Given the description of an element on the screen output the (x, y) to click on. 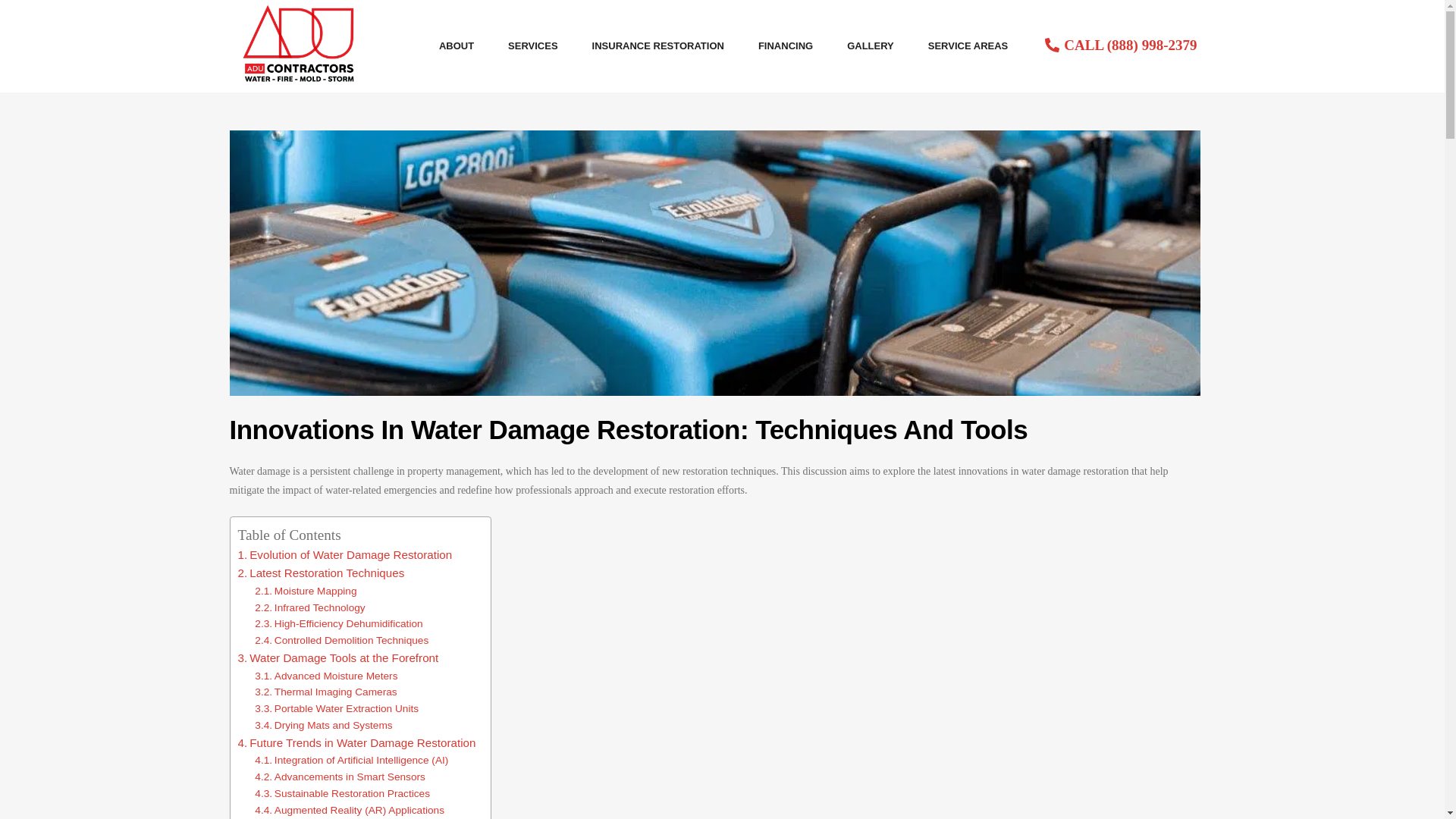
GALLERY (870, 46)
Latest Restoration Techniques (321, 573)
High-Efficiency Dehumidification (338, 623)
Drying Mats and Systems (322, 725)
Portable Water Extraction Units (336, 709)
Advanced Moisture Meters (325, 676)
INSURANCE RESTORATION (657, 46)
Controlled Demolition Techniques (341, 640)
Advanced Moisture Meters (325, 676)
Water Damage Tools at the Forefront (338, 658)
Evolution of Water Damage Restoration (345, 555)
SERVICE AREAS (968, 46)
Water Damage Tools at the Forefront (338, 658)
Moisture Mapping (305, 591)
Infrared Technology (309, 607)
